Given the description of an element on the screen output the (x, y) to click on. 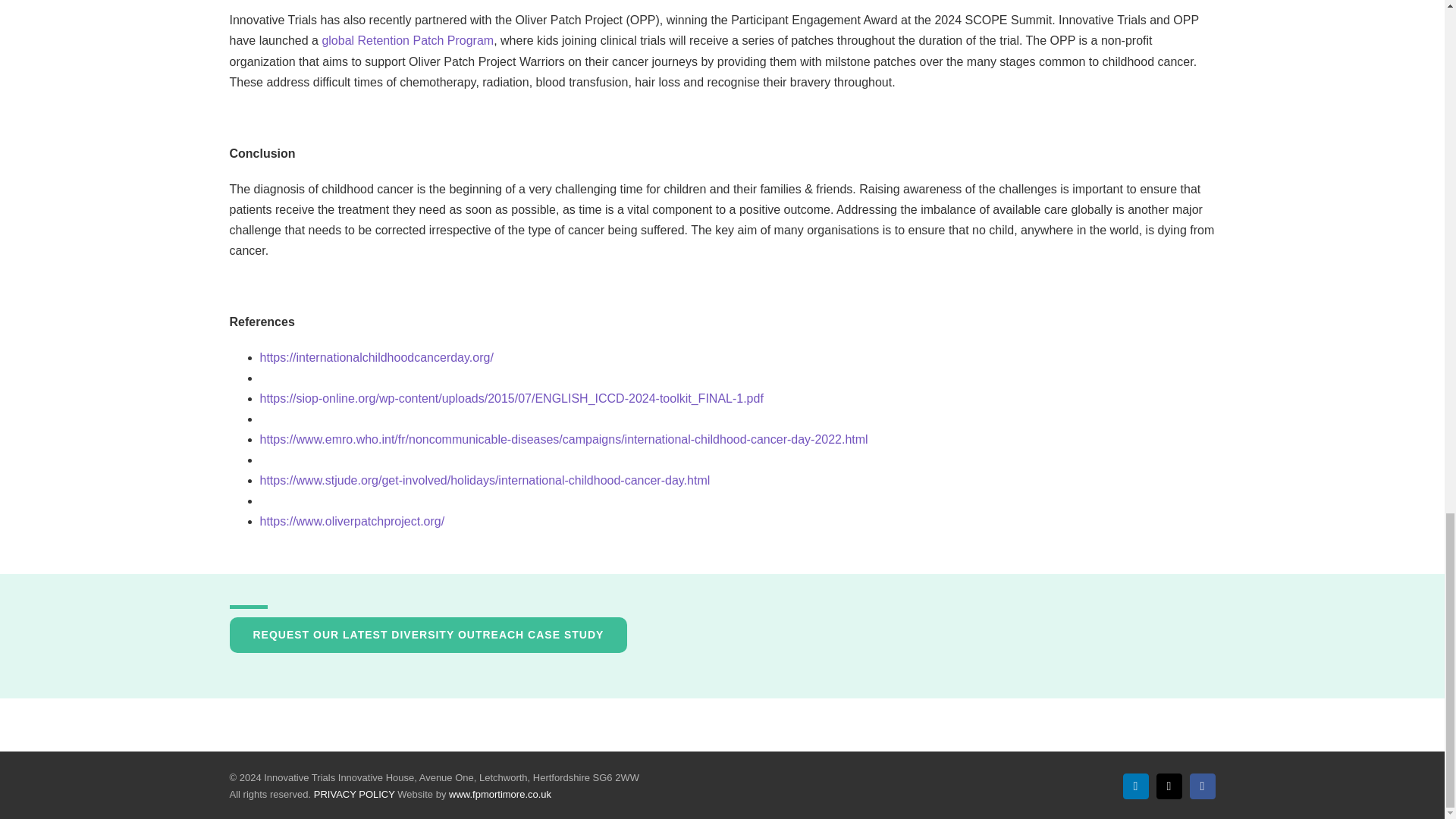
LinkedIn (1135, 786)
PRIVACY POLICY (354, 794)
www.fpmortimore.co.uk (499, 794)
Facebook (1201, 786)
X (1168, 786)
www.fpmortimore.co.uk (499, 794)
global Retention Patch Program (407, 40)
LinkedIn (1135, 786)
REQUEST OUR LATEST DIVERSITY OUTREACH CASE STUDY (427, 634)
